Given the description of an element on the screen output the (x, y) to click on. 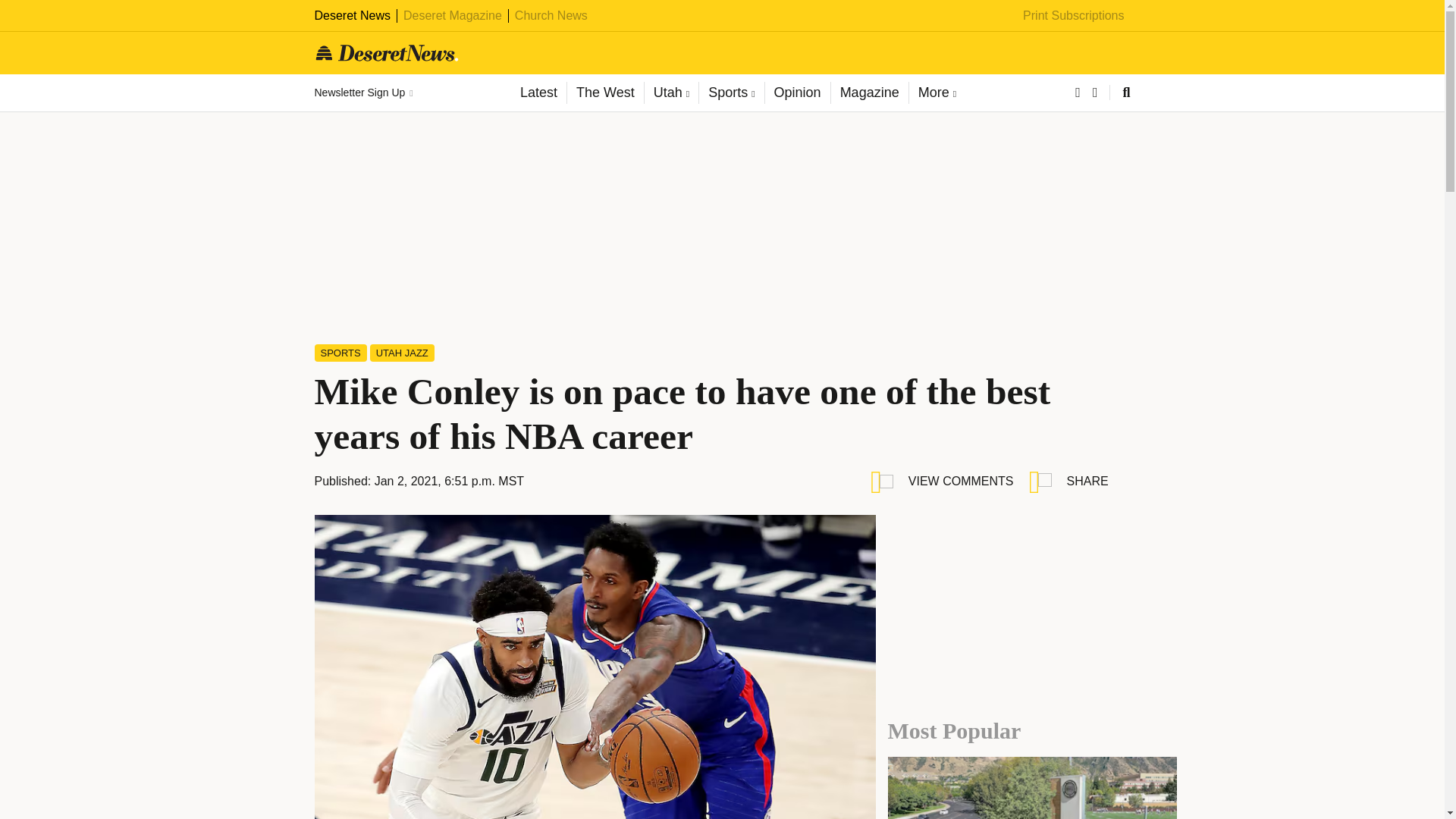
Deseret News (352, 15)
Church News (551, 15)
Opinion (796, 92)
Print Subscriptions (1073, 15)
The West (604, 92)
Latest (538, 92)
Sports (730, 92)
Newsletter Sign Up (363, 92)
SPORTS (340, 352)
UTAH JAZZ (401, 352)
Deseret Magazine (452, 15)
Magazine (868, 92)
Utah (670, 92)
